Given the description of an element on the screen output the (x, y) to click on. 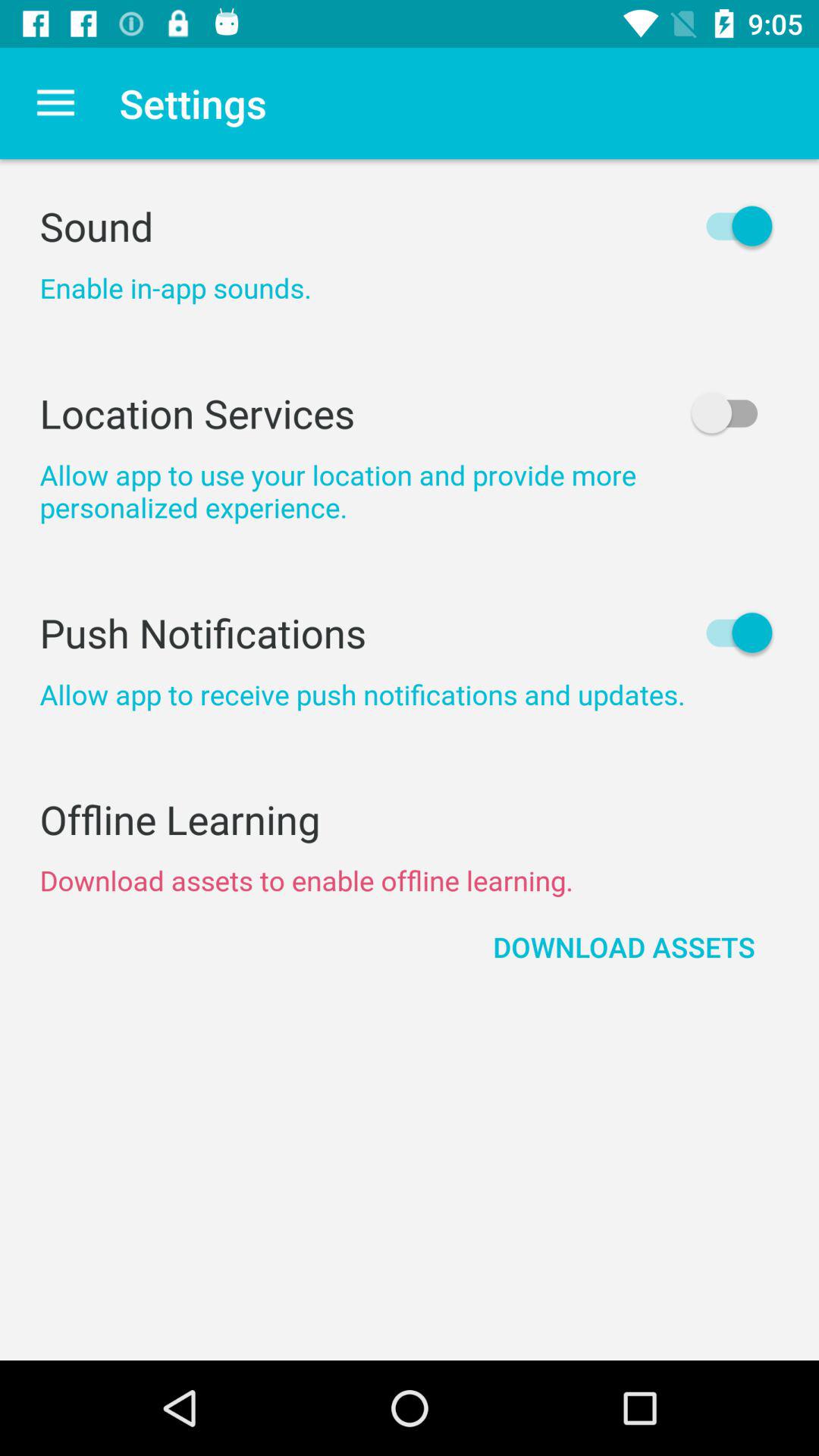
turn off item above the sound icon (55, 103)
